Given the description of an element on the screen output the (x, y) to click on. 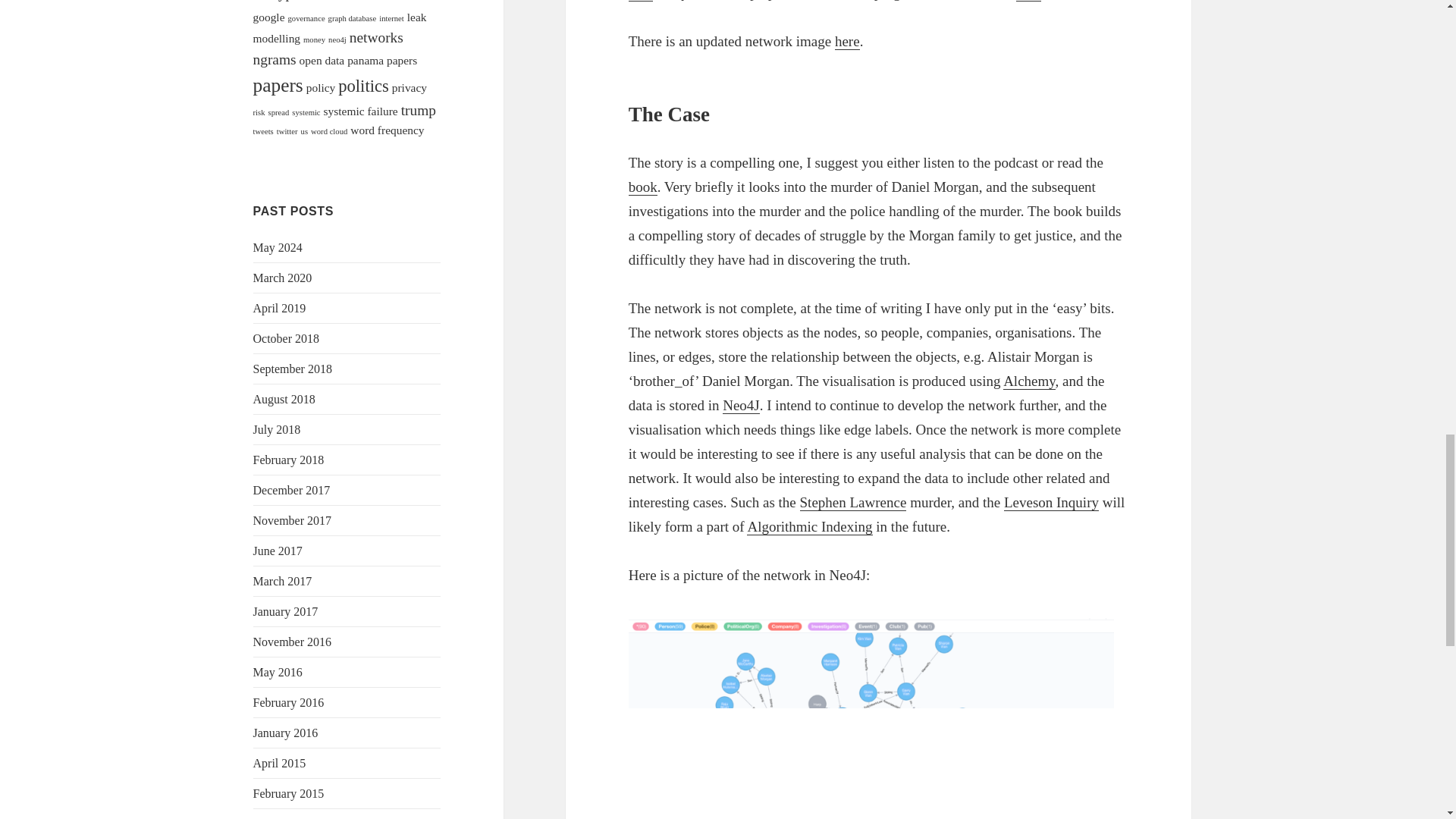
encryption (284, 0)
finance (374, 1)
google (269, 16)
